Given the description of an element on the screen output the (x, y) to click on. 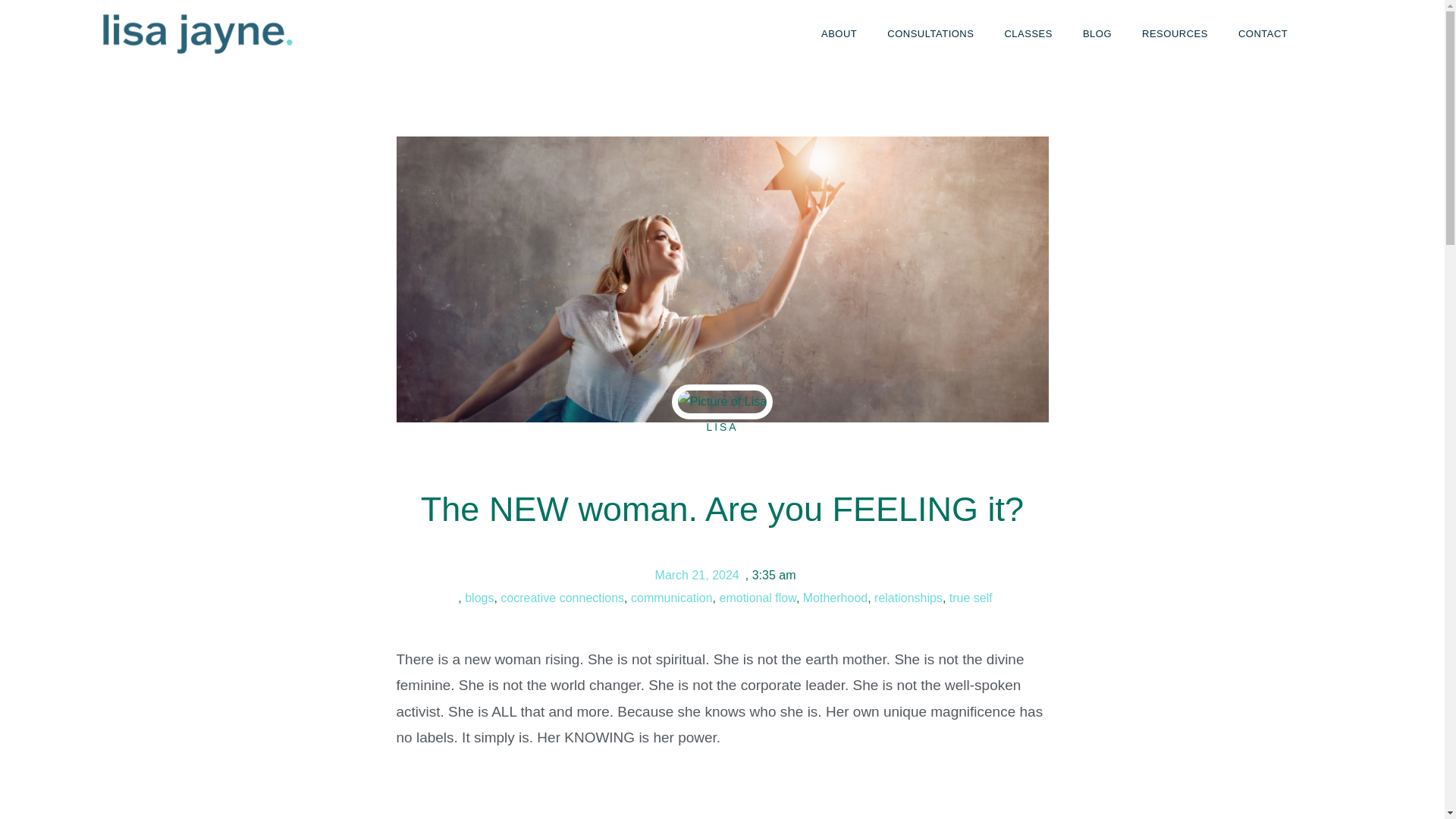
relationships (908, 597)
March 21, 2024 (694, 575)
RESOURCES (1174, 33)
true self (970, 597)
CLASSES (1027, 33)
communication (671, 597)
ABOUT (839, 33)
blogs (478, 597)
CONTACT (1263, 33)
CONSULTATIONS (930, 33)
Motherhood (835, 597)
cocreative connections (562, 597)
BLOG (1097, 33)
emotional flow (756, 597)
